Given the description of an element on the screen output the (x, y) to click on. 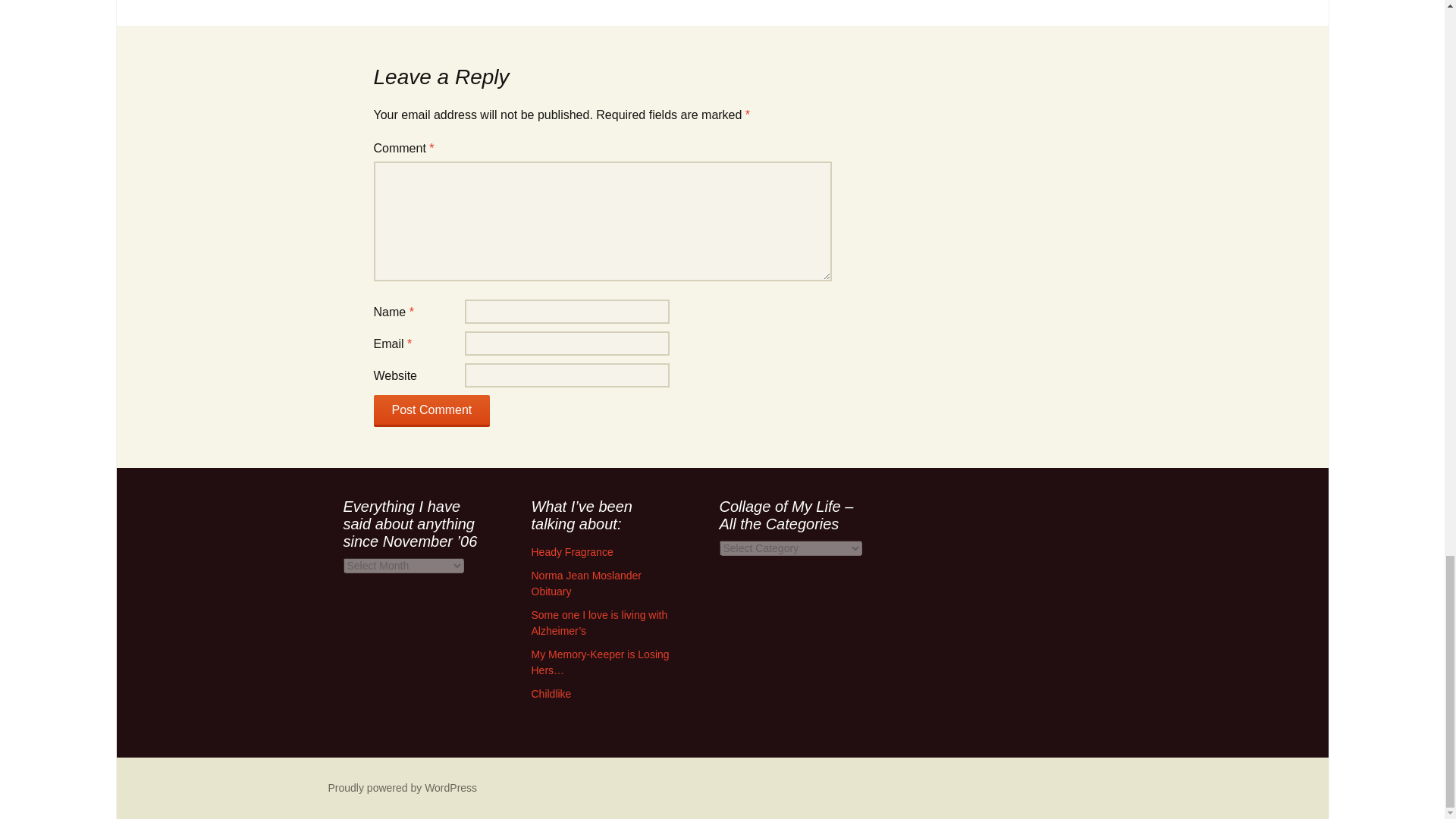
Heady Fragrance (571, 551)
Norma Jean Moslander Obituary (586, 583)
Childlike (550, 693)
Post Comment (430, 410)
Post Comment (430, 410)
